Given the description of an element on the screen output the (x, y) to click on. 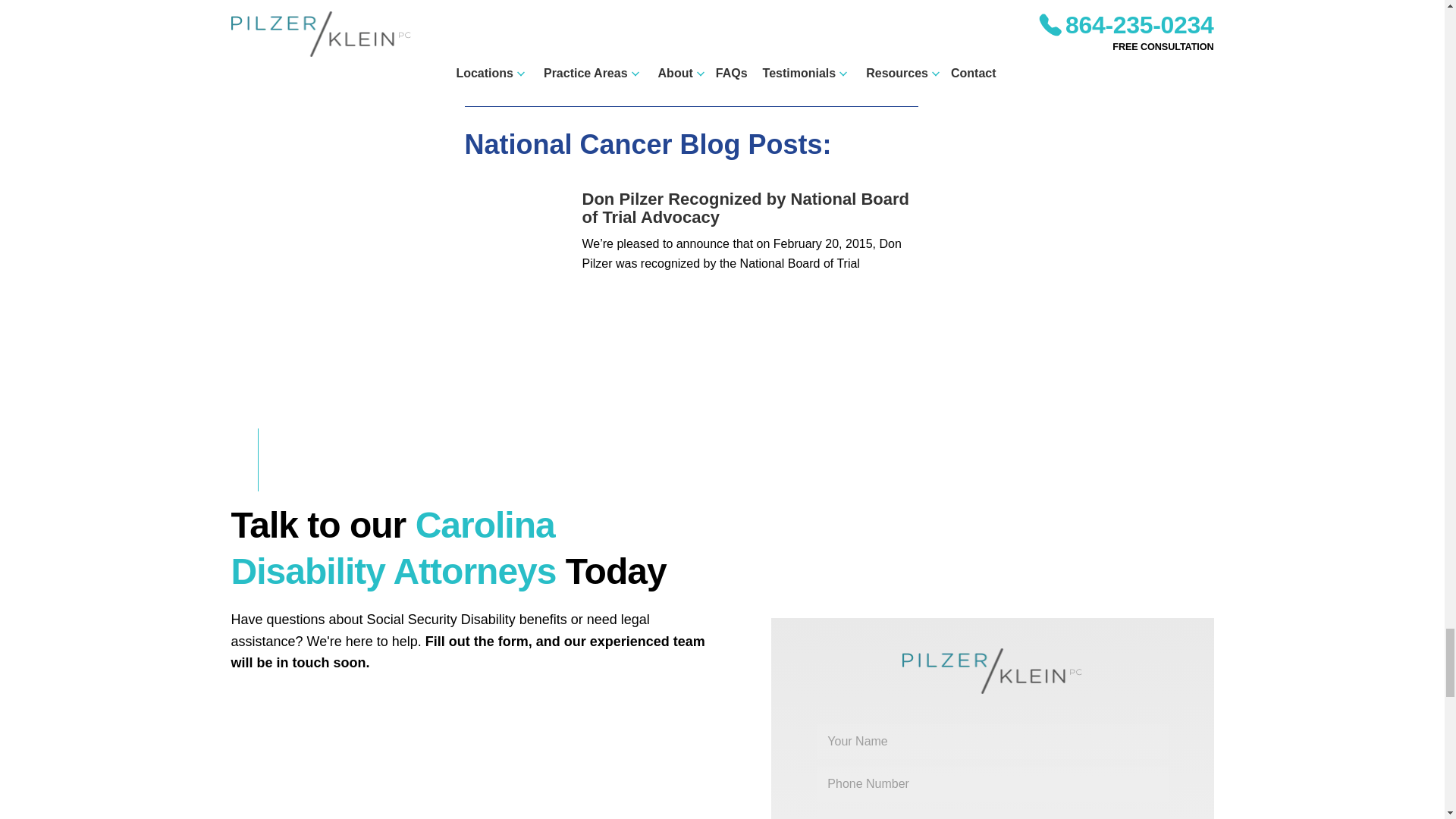
Don Pilzer Recognized by National Board of Trial Advocacy (517, 243)
Don Pilzer Recognized by National Board of Trial Advocacy (746, 207)
Pilzer and Klein (476, 761)
